Given the description of an element on the screen output the (x, y) to click on. 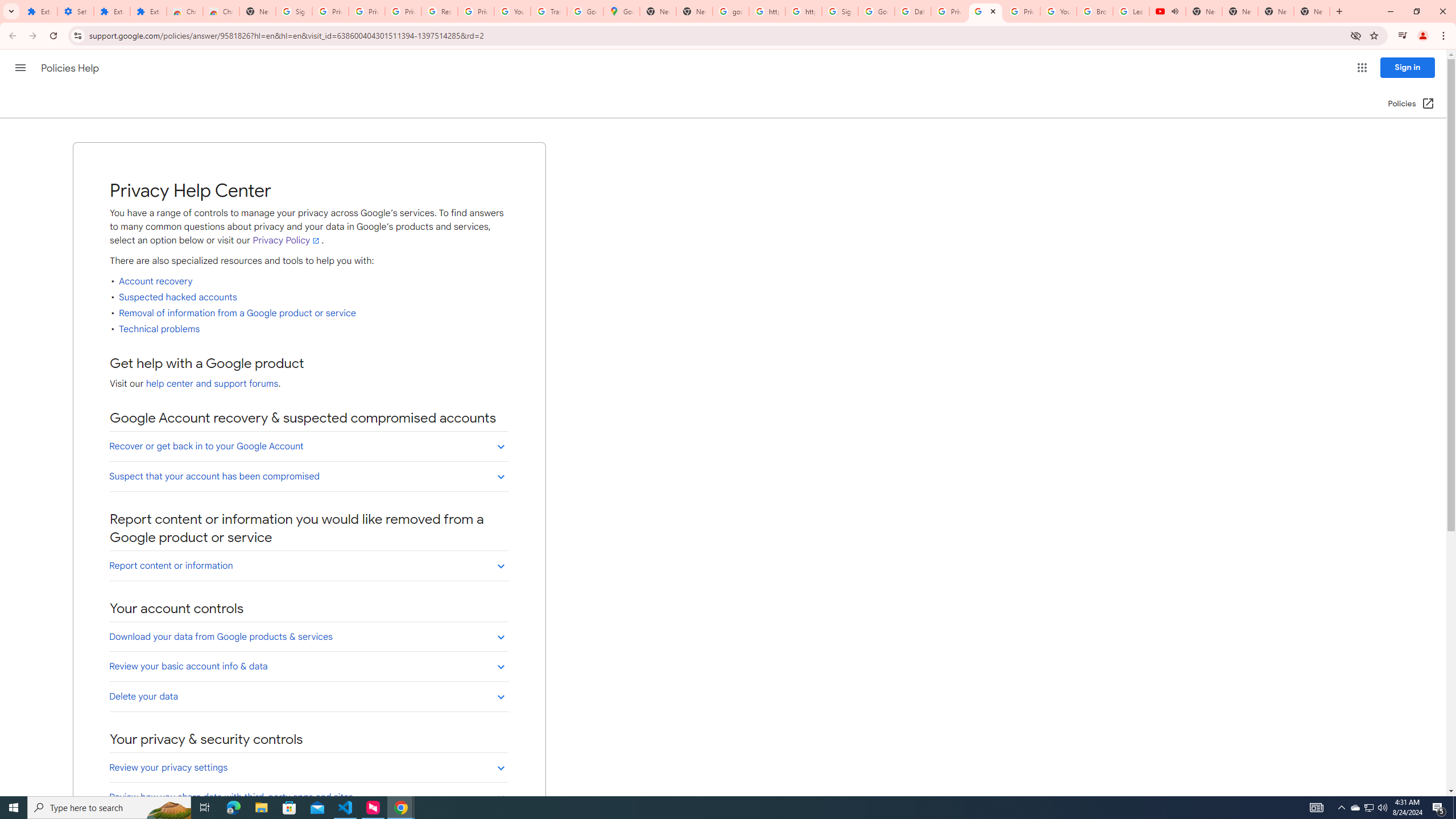
Suspect that your account has been compromised (308, 476)
Policies (Open in a new window) (1411, 103)
Delete your data (308, 696)
Download your data from Google products & services (308, 636)
Chrome Web Store - Themes (221, 11)
Report content or information (308, 565)
